Given the description of an element on the screen output the (x, y) to click on. 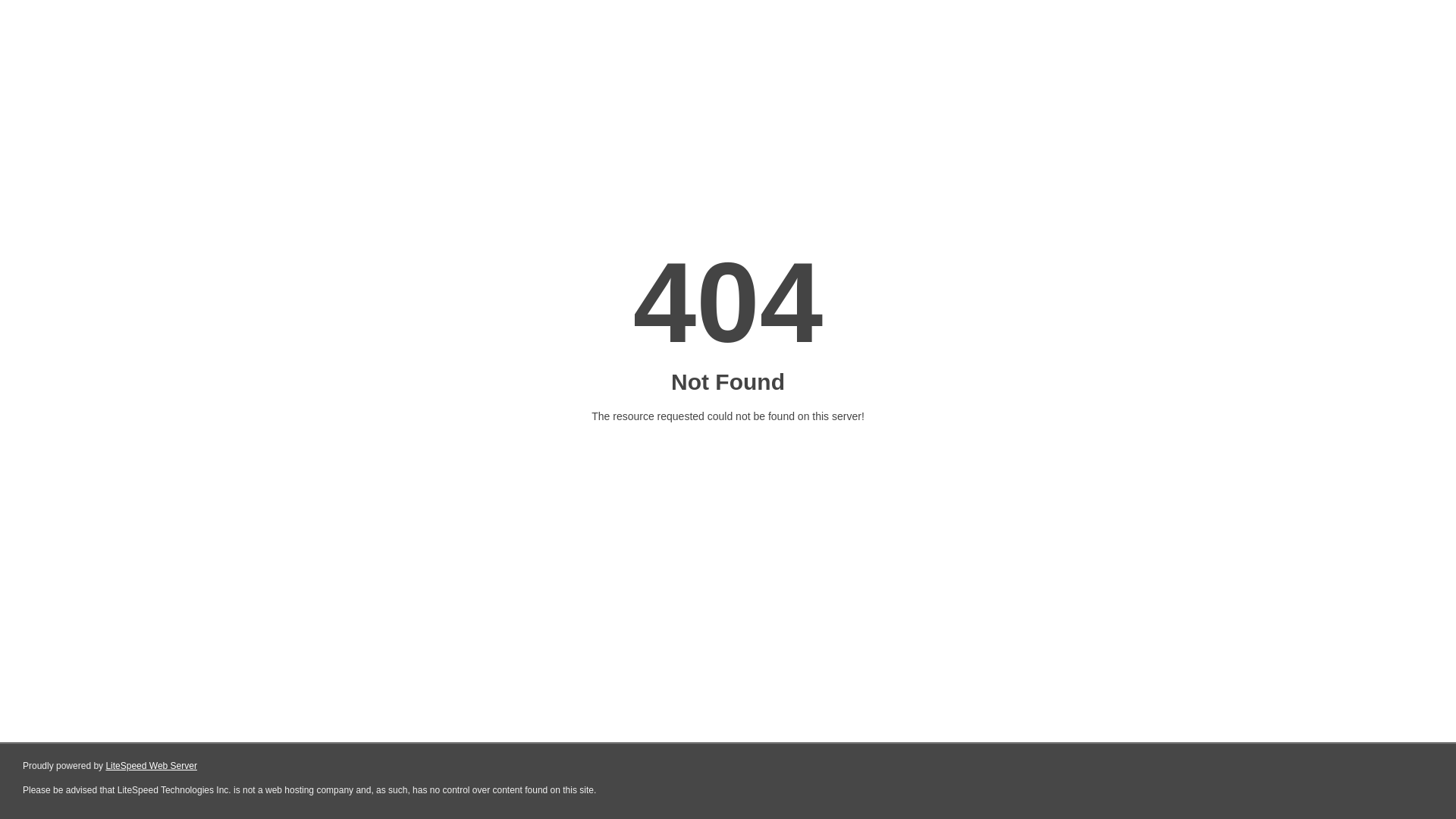
LiteSpeed Web Server Element type: text (151, 765)
